Given the description of an element on the screen output the (x, y) to click on. 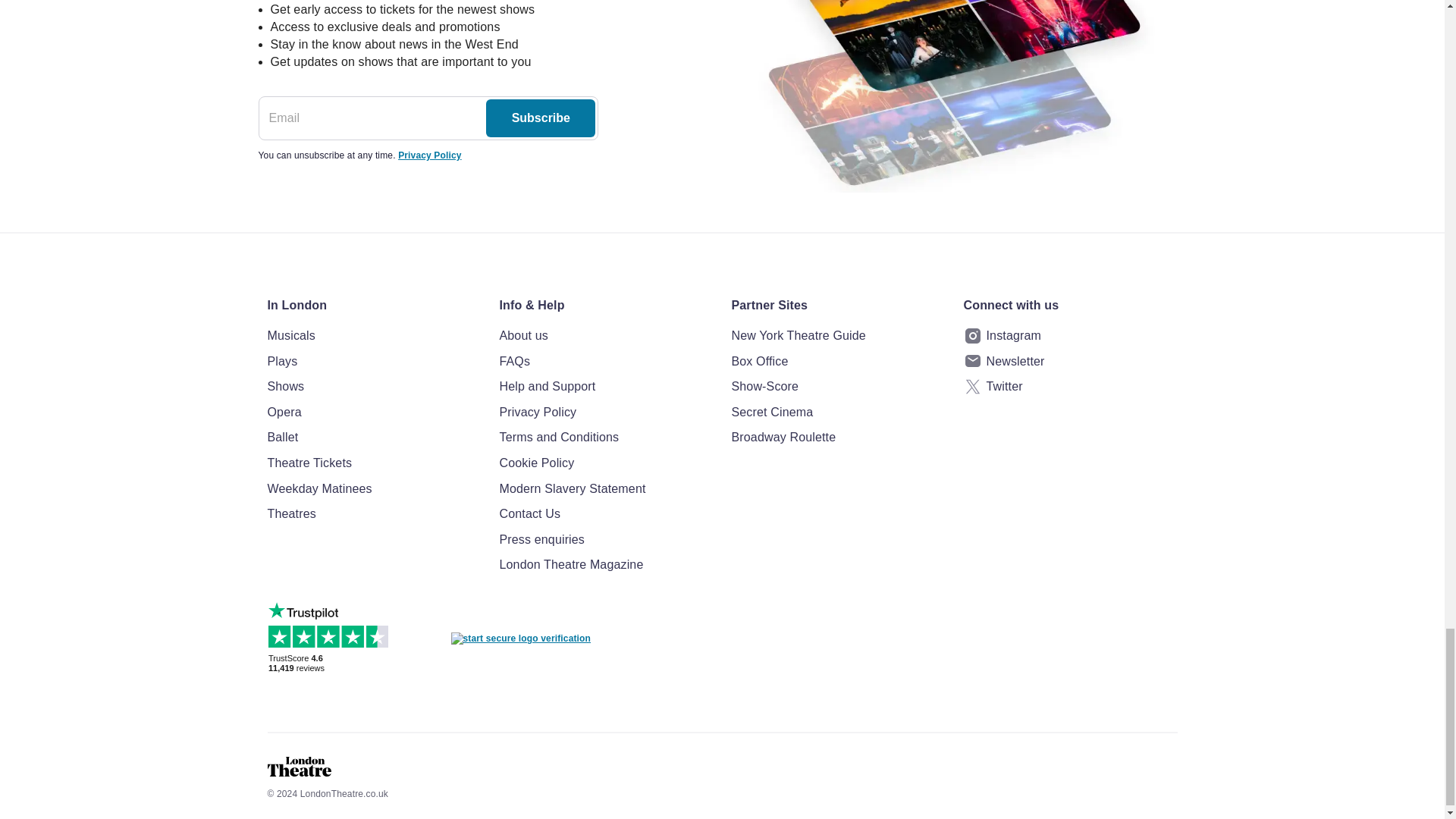
Ballet (373, 437)
Musicals (373, 335)
Plays (373, 361)
Shows (373, 386)
Weekday Matinees (373, 488)
FAQs (606, 361)
Theatre Tickets (373, 463)
About us (606, 335)
Theatres (373, 514)
Opera (373, 412)
